Given the description of an element on the screen output the (x, y) to click on. 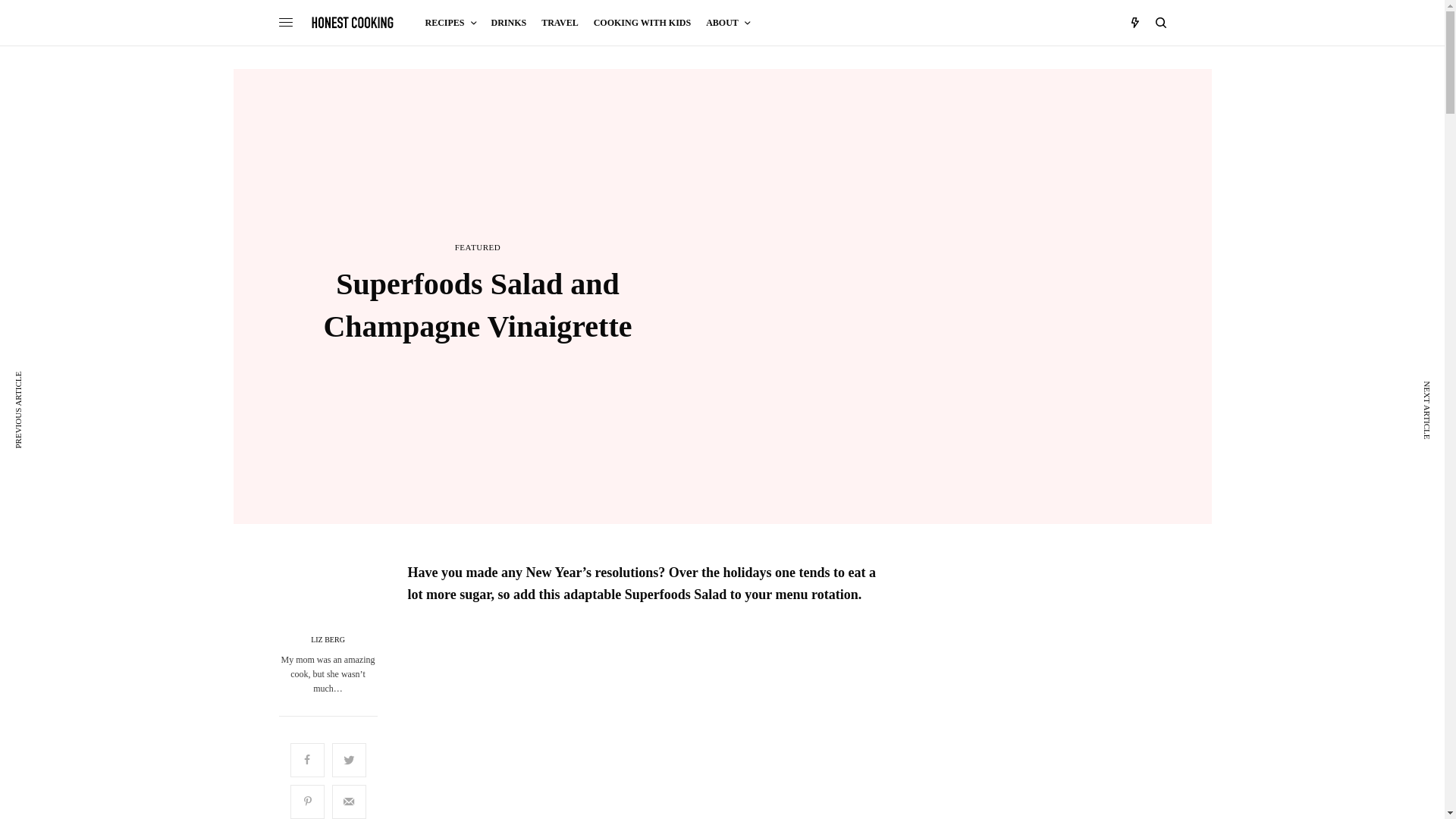
DRINKS (509, 22)
FEATURED (477, 247)
COOKING WITH KIDS (642, 22)
TRAVEL (559, 22)
LIZ BERG (328, 639)
ABOUT (727, 22)
RECIPES (450, 22)
Honest Cooking (352, 22)
